Given the description of an element on the screen output the (x, y) to click on. 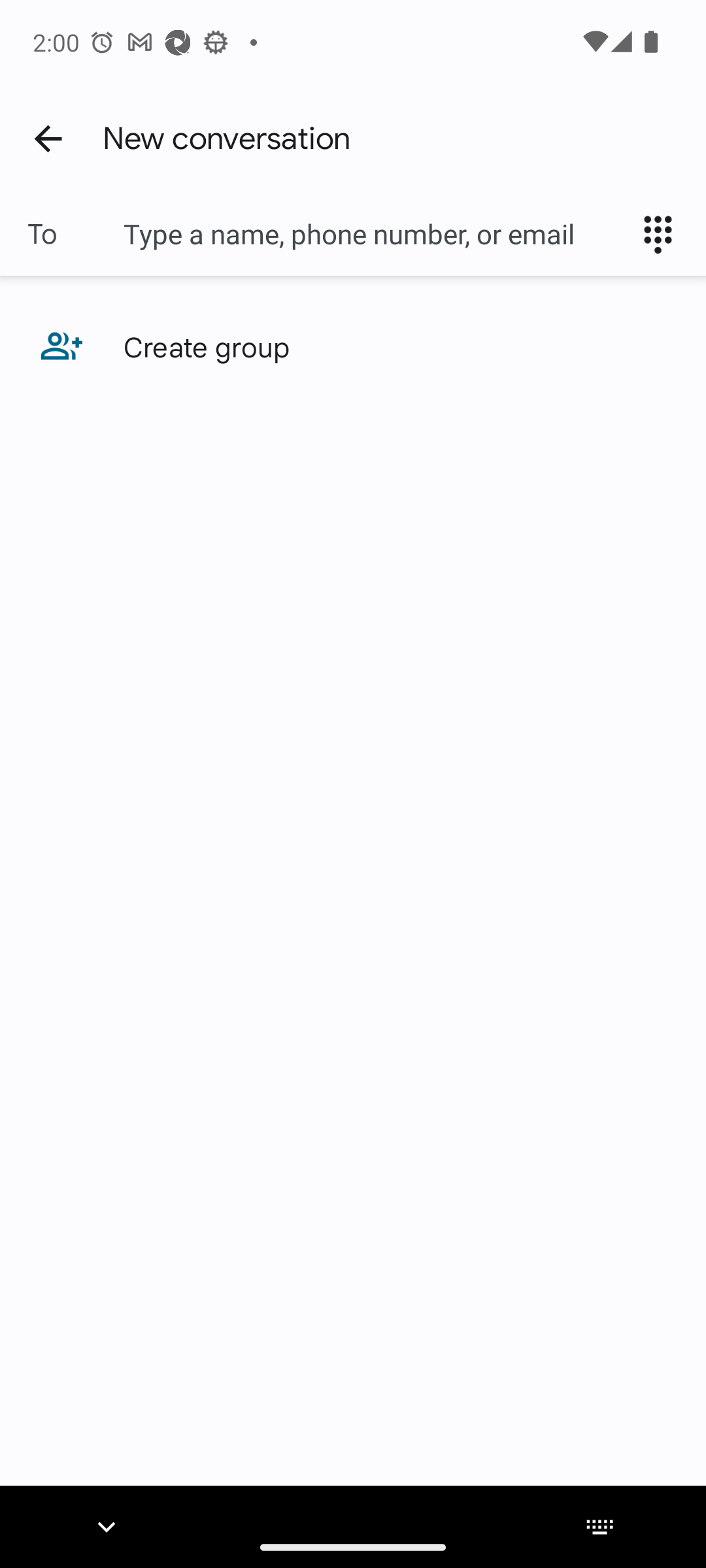
Navigate up (48, 137)
Type a name, phone number, or email (373, 233)
Switch between entering text and numbers (664, 233)
Create group (353, 346)
